Given the description of an element on the screen output the (x, y) to click on. 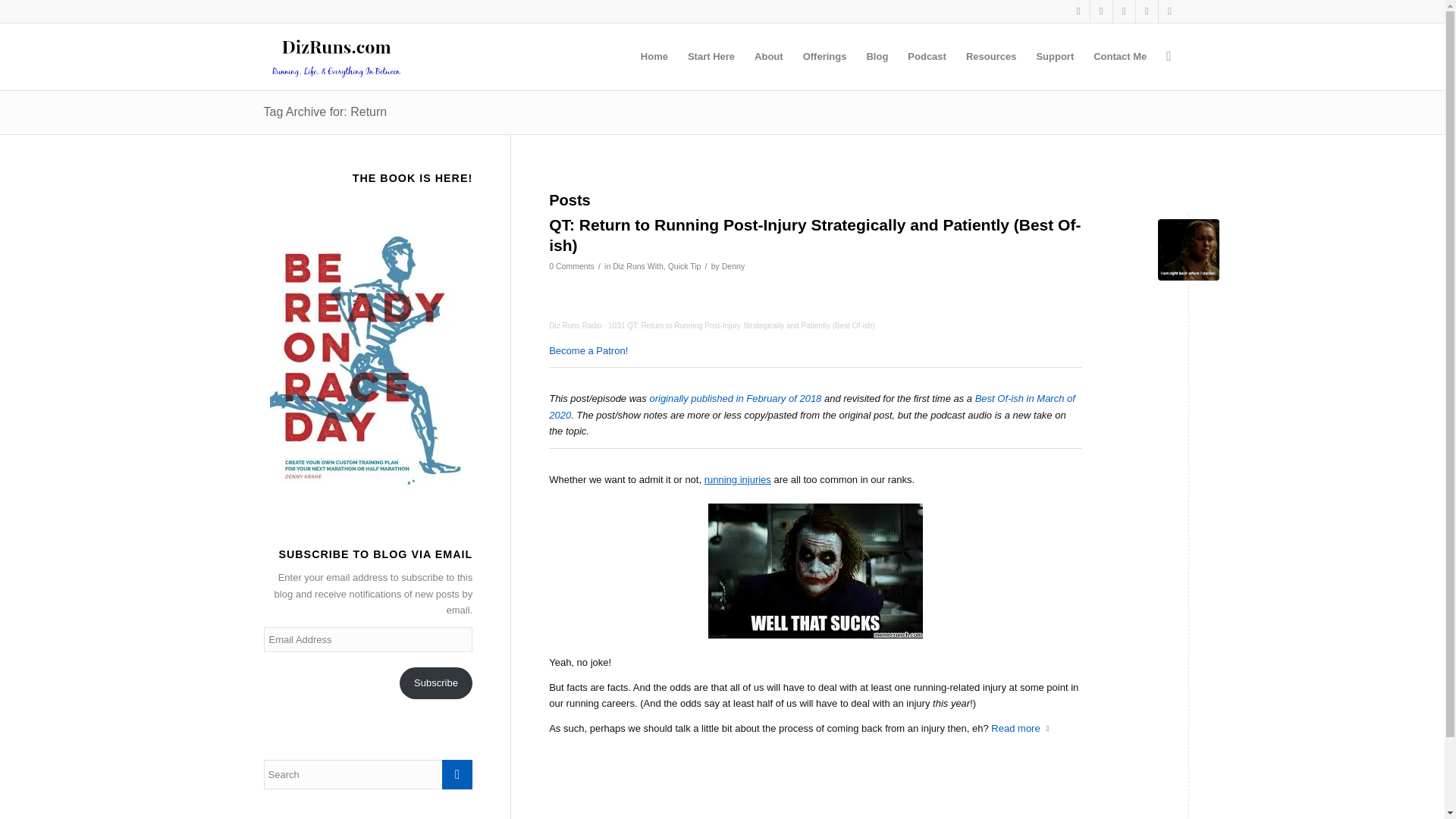
Square One (1187, 249)
Pinterest (1124, 11)
Resources (991, 56)
Best Of-ish in March of 2020 (811, 406)
Tag Archive for: Return (325, 111)
originally published in February of 2018 (735, 398)
Rss (1169, 11)
0 Comments (571, 266)
Twitter (1078, 11)
Diz Runs With (637, 266)
